Given the description of an element on the screen output the (x, y) to click on. 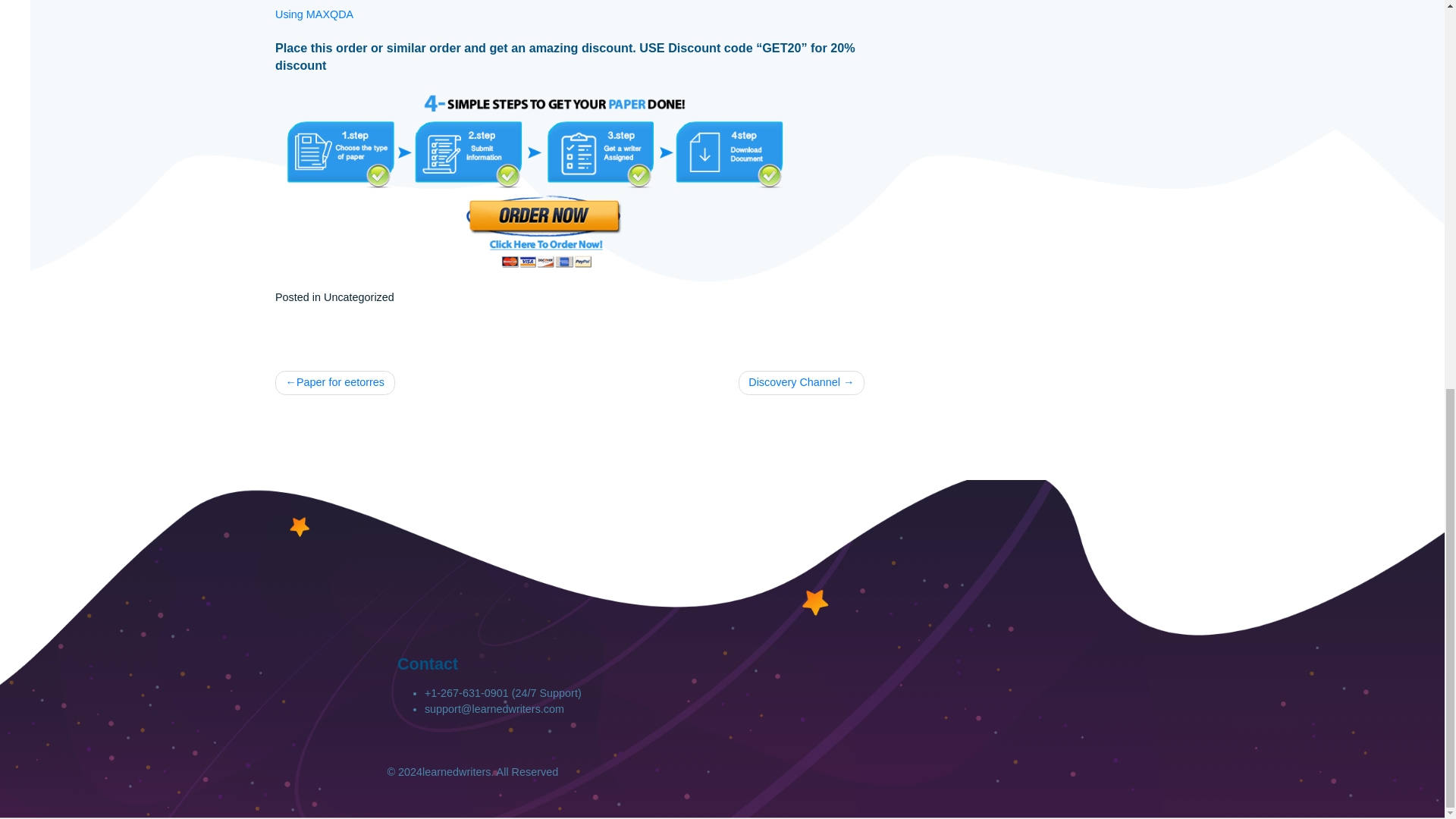
Using MAXQDA (349, 97)
Discovery Channel (890, 506)
Paper for eetorres (371, 506)
